Given the description of an element on the screen output the (x, y) to click on. 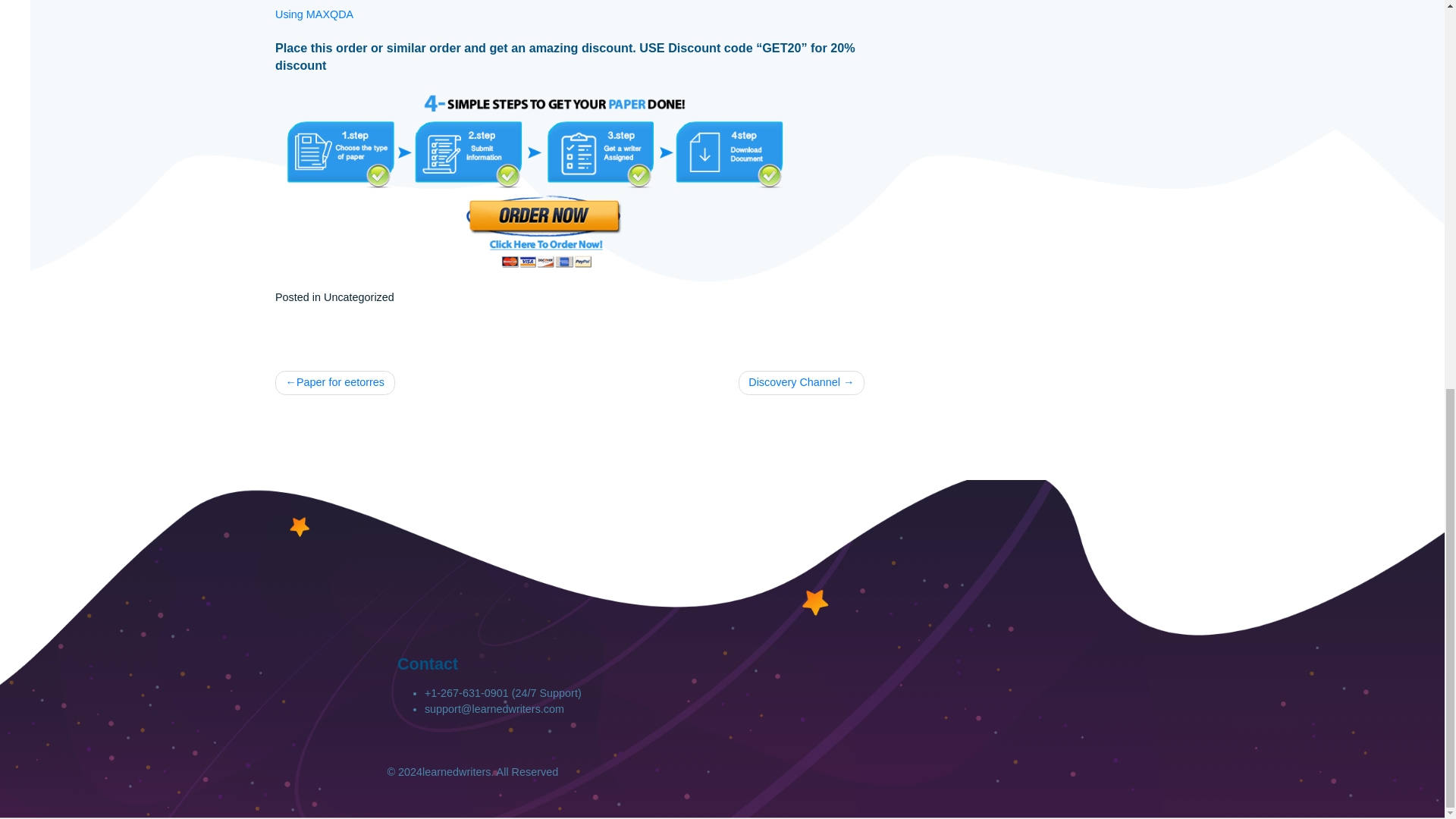
Using MAXQDA (349, 97)
Discovery Channel (890, 506)
Paper for eetorres (371, 506)
